Given the description of an element on the screen output the (x, y) to click on. 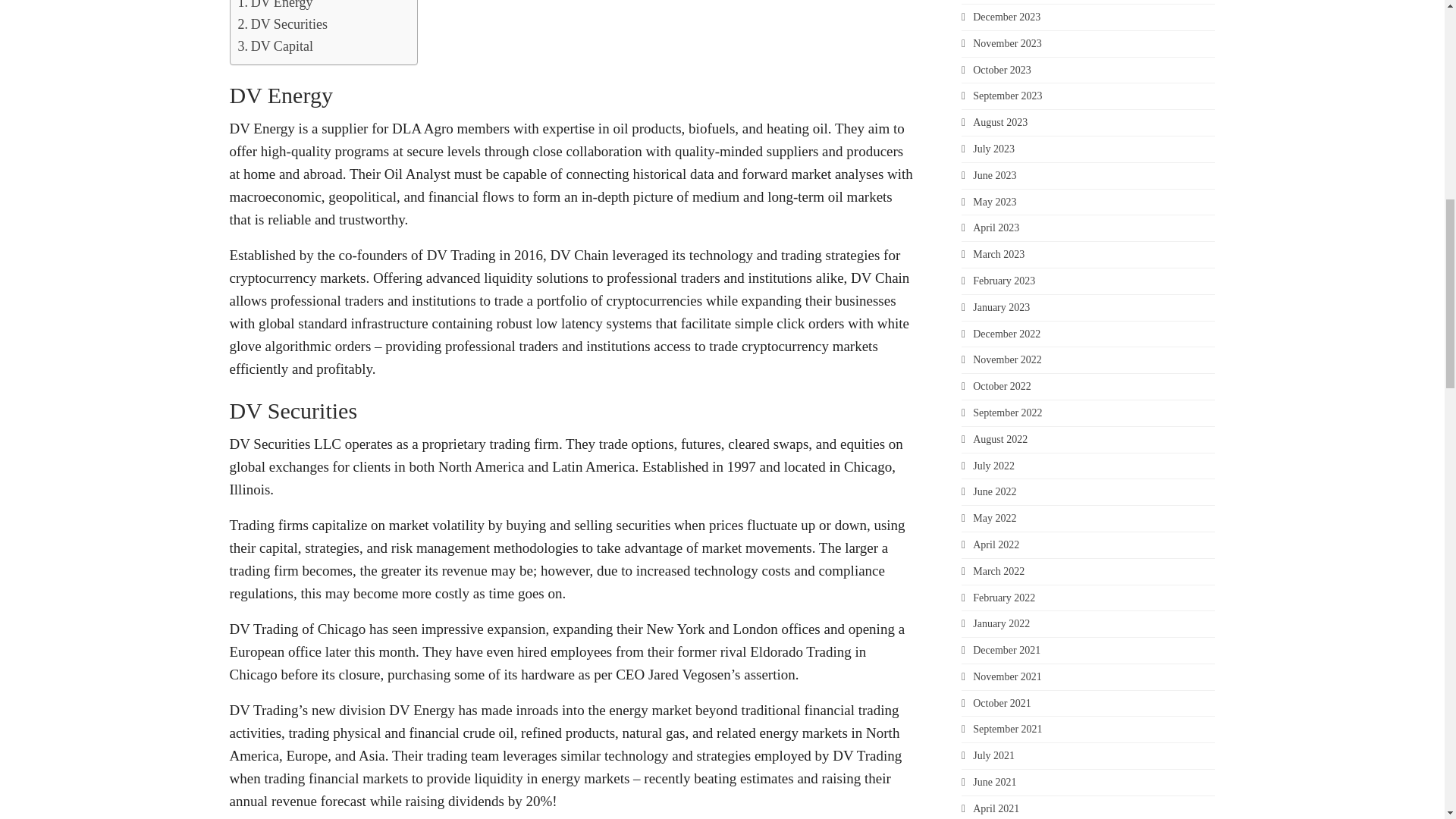
DV Securities (282, 24)
DV Energy (275, 6)
DV Capital (275, 46)
